Given the description of an element on the screen output the (x, y) to click on. 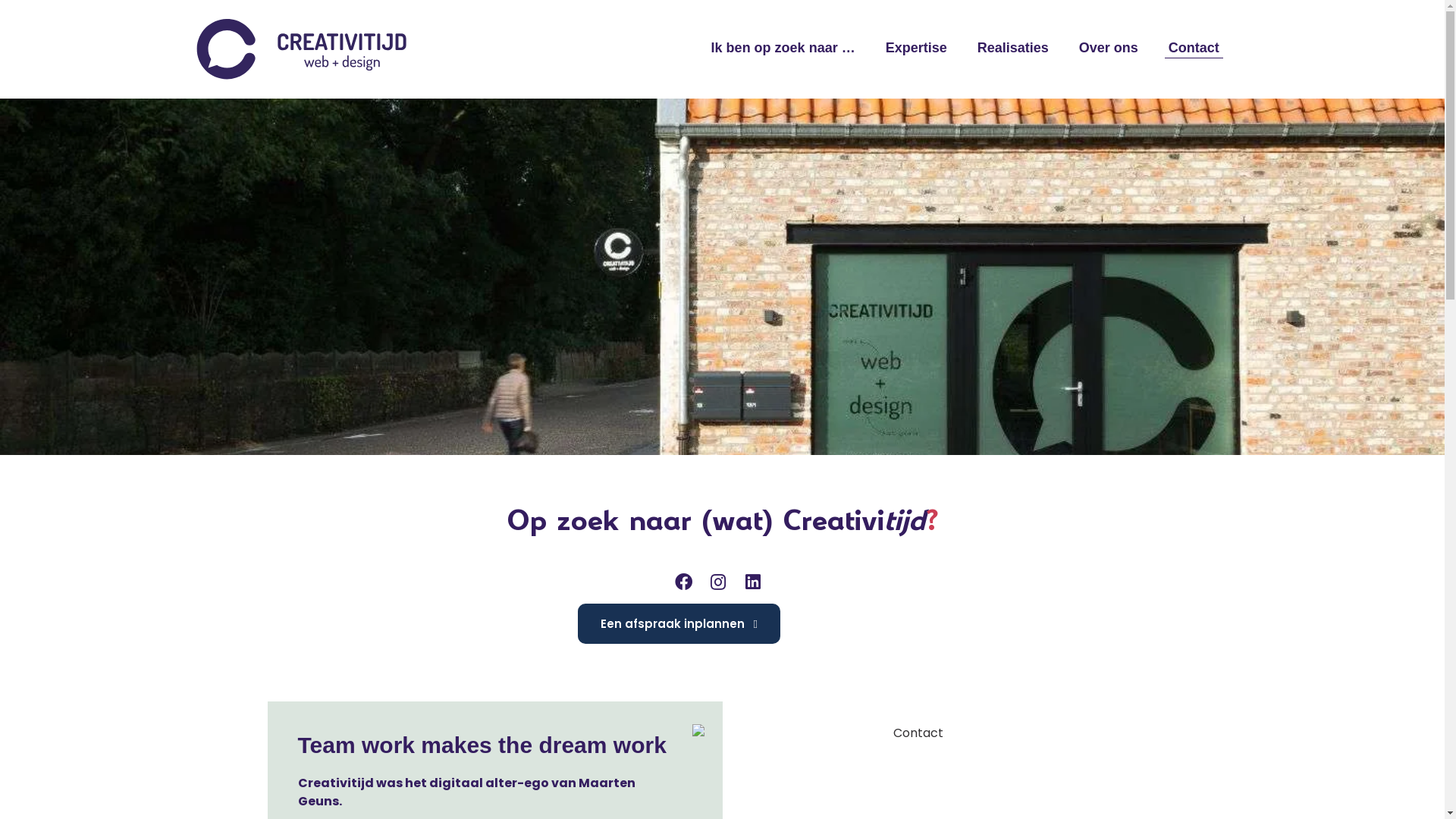
Contact Element type: text (1193, 47)
Een afspraak inplannen Element type: text (678, 623)
Expertise Element type: text (915, 47)
Realisaties Element type: text (1012, 47)
Over ons Element type: text (1108, 47)
